Given the description of an element on the screen output the (x, y) to click on. 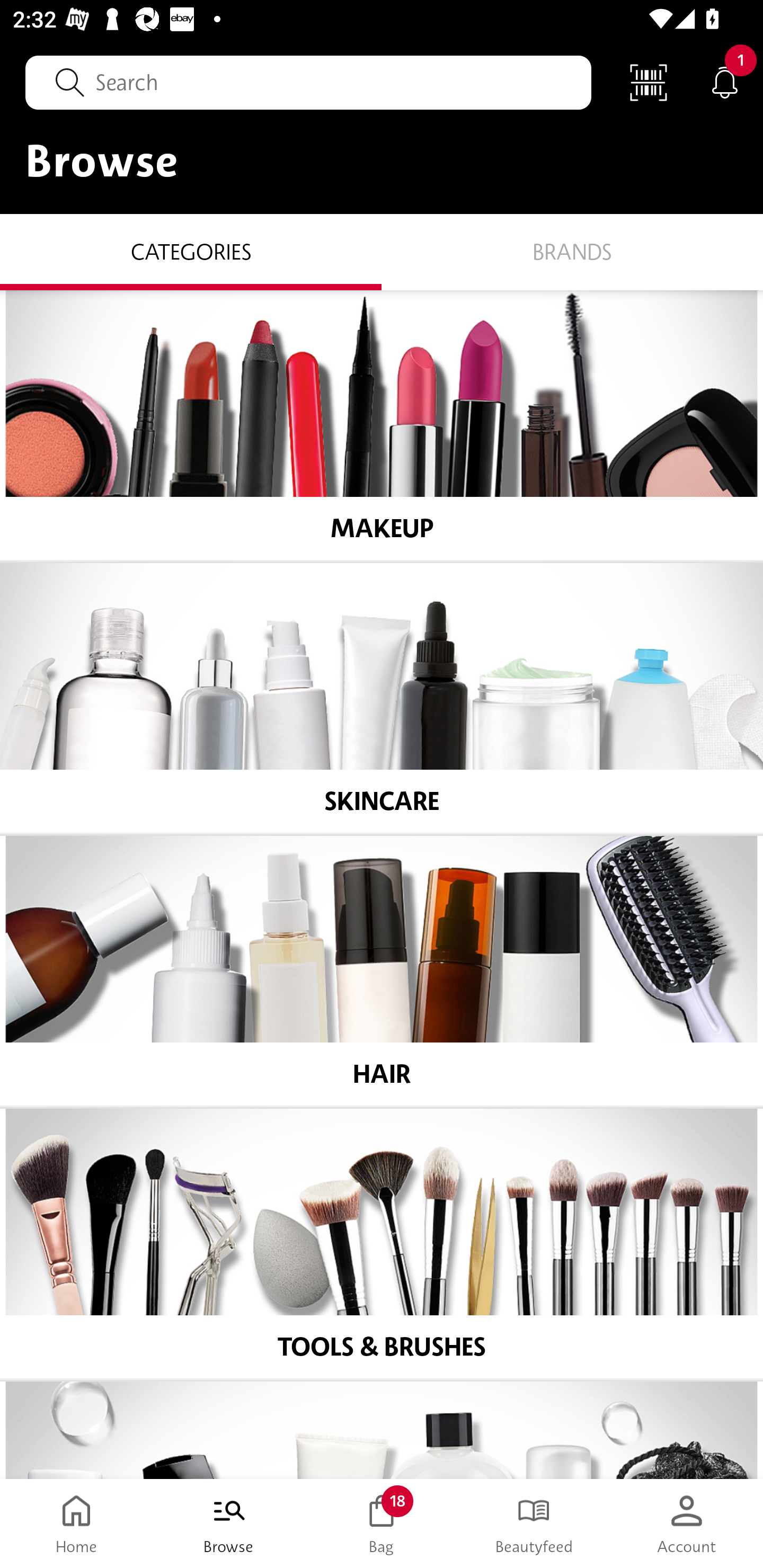
Scan Code (648, 81)
Notifications (724, 81)
Search (308, 81)
Brands BRANDS (572, 251)
MAKEUP (381, 425)
SKINCARE (381, 698)
HAIR (381, 971)
TOOLS & BRUSHES (381, 1243)
Home (76, 1523)
Bag 18 Bag (381, 1523)
Beautyfeed (533, 1523)
Account (686, 1523)
